Given the description of an element on the screen output the (x, y) to click on. 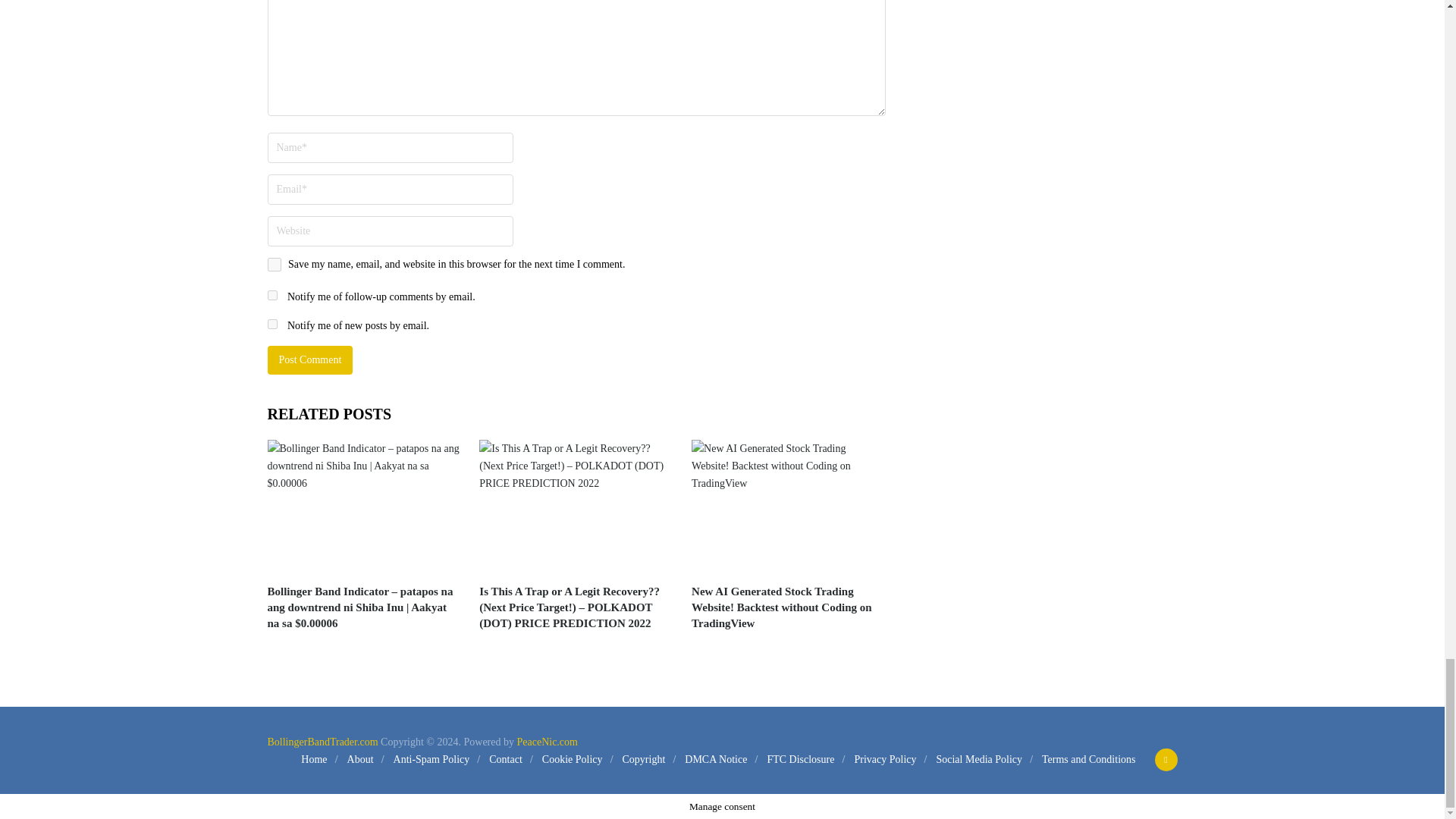
Post Comment (309, 359)
yes (273, 264)
Post Comment (309, 359)
subscribe (271, 324)
subscribe (271, 295)
